Given the description of an element on the screen output the (x, y) to click on. 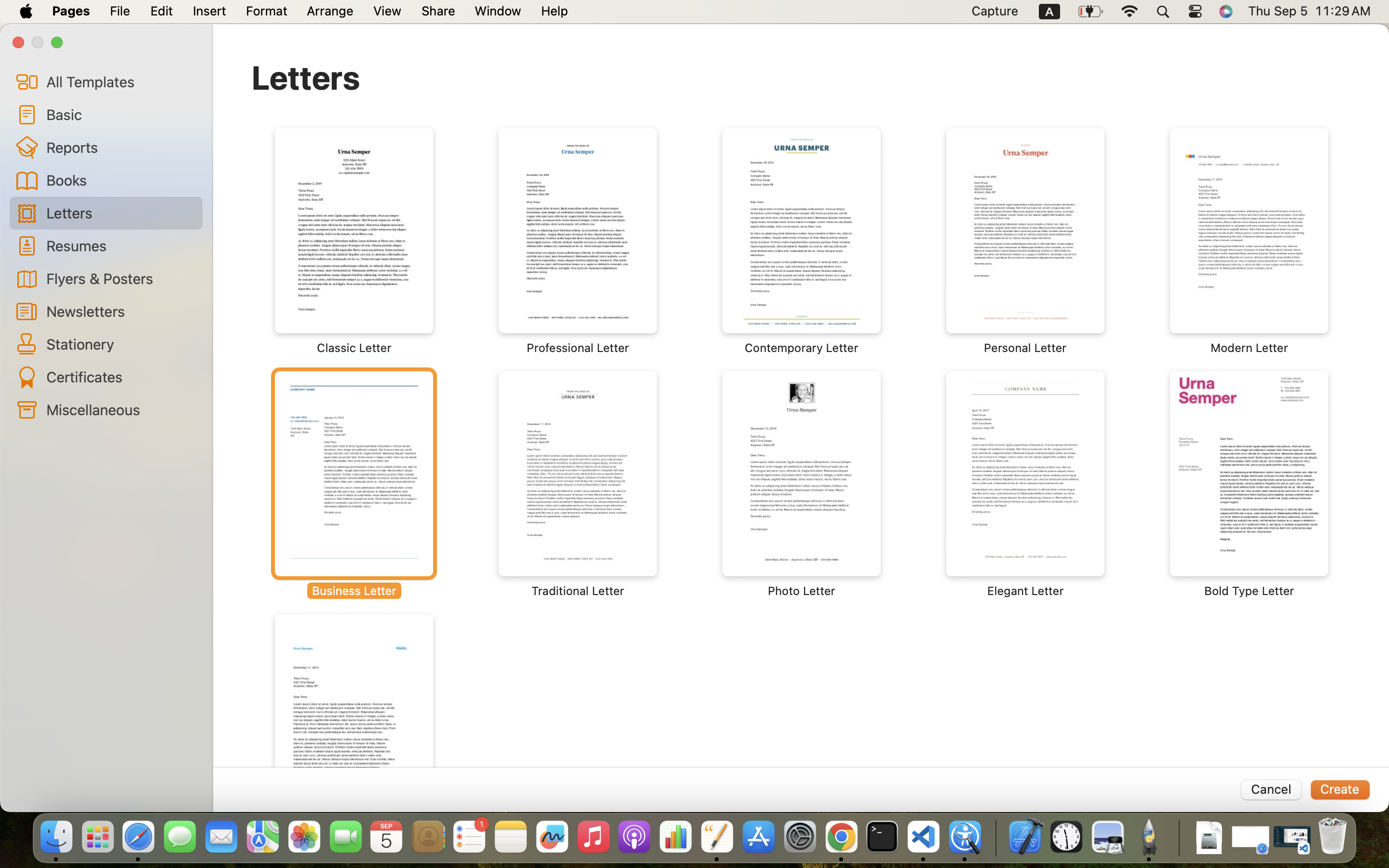
Letters Element type: AXStaticText (305, 76)
Reports Element type: AXStaticText (120, 146)
Miscellaneous Element type: AXStaticText (120, 409)
‎⁨Traditional Letter⁩ Element type: AXButton (577, 484)
‎⁨Elegant Letter⁩ Element type: AXButton (1025, 484)
